Given the description of an element on the screen output the (x, y) to click on. 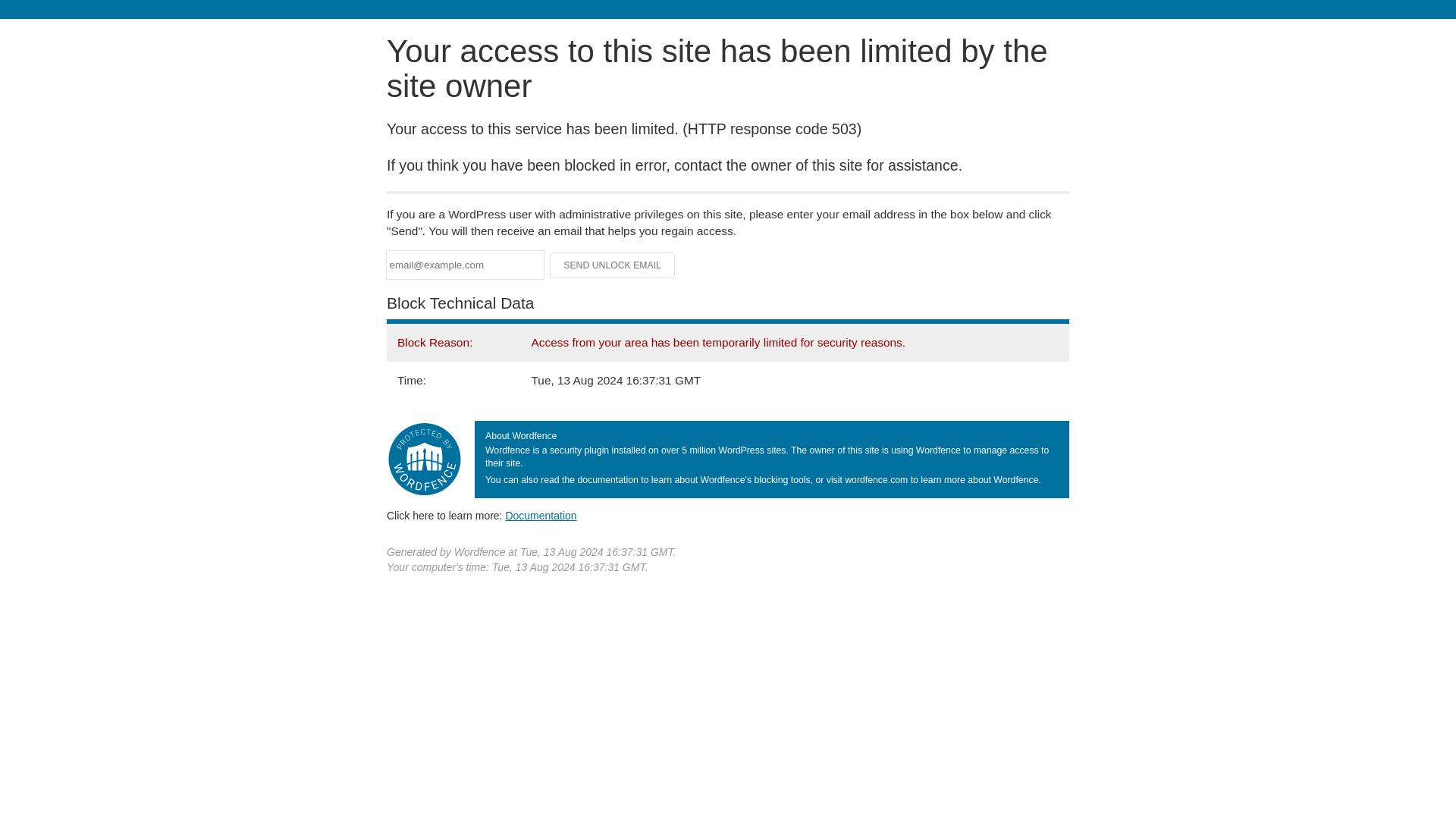
Send Unlock Email (612, 265)
Documentation (540, 515)
Send Unlock Email (612, 265)
